Given the description of an element on the screen output the (x, y) to click on. 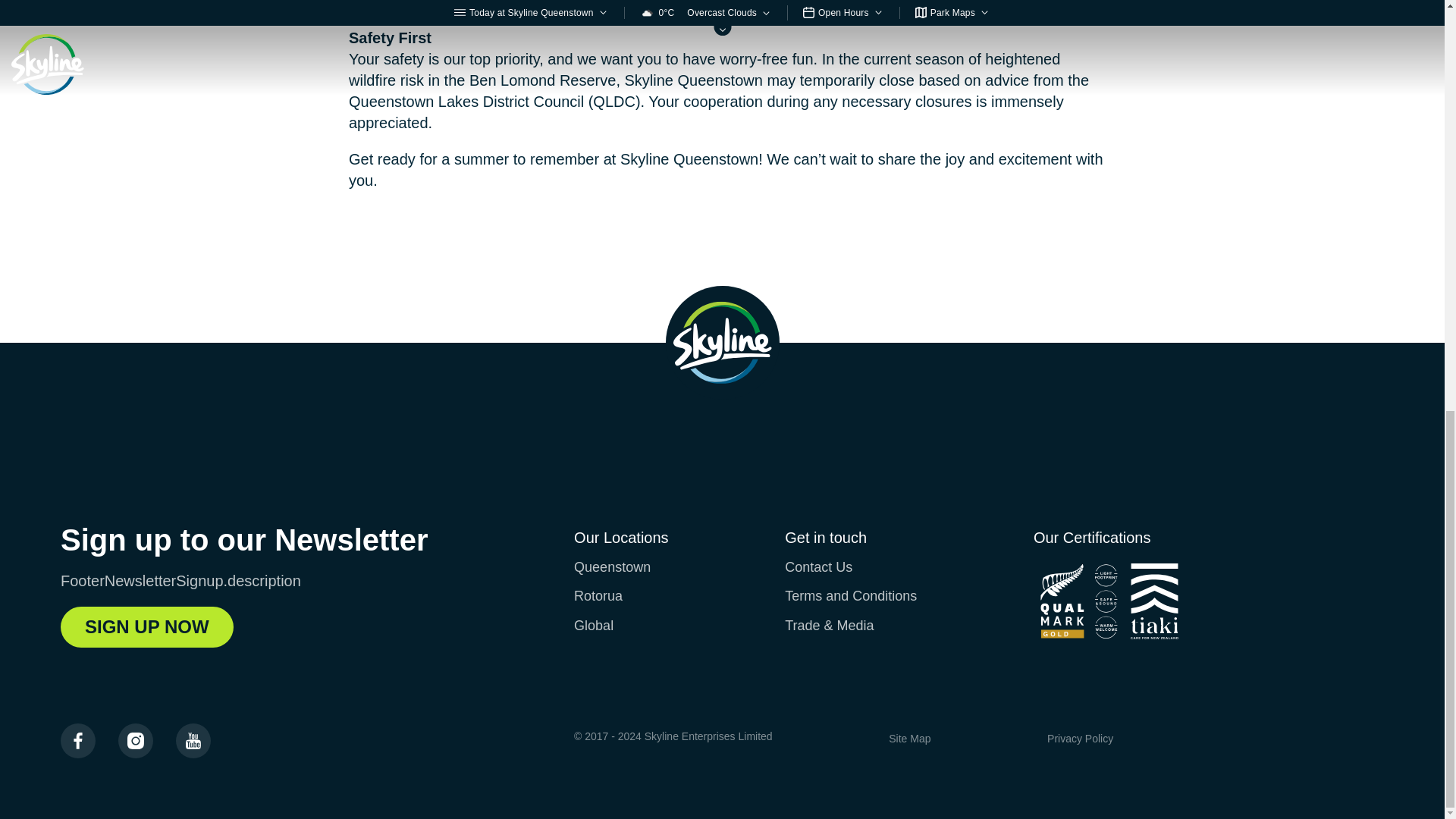
SIGN UP NOW (146, 626)
Site Map (909, 738)
Global (592, 625)
Privacy Policy (1079, 738)
Rotorua (598, 595)
Contact Us (817, 566)
Queenstown (611, 566)
Terms and Conditions (850, 595)
